Given the description of an element on the screen output the (x, y) to click on. 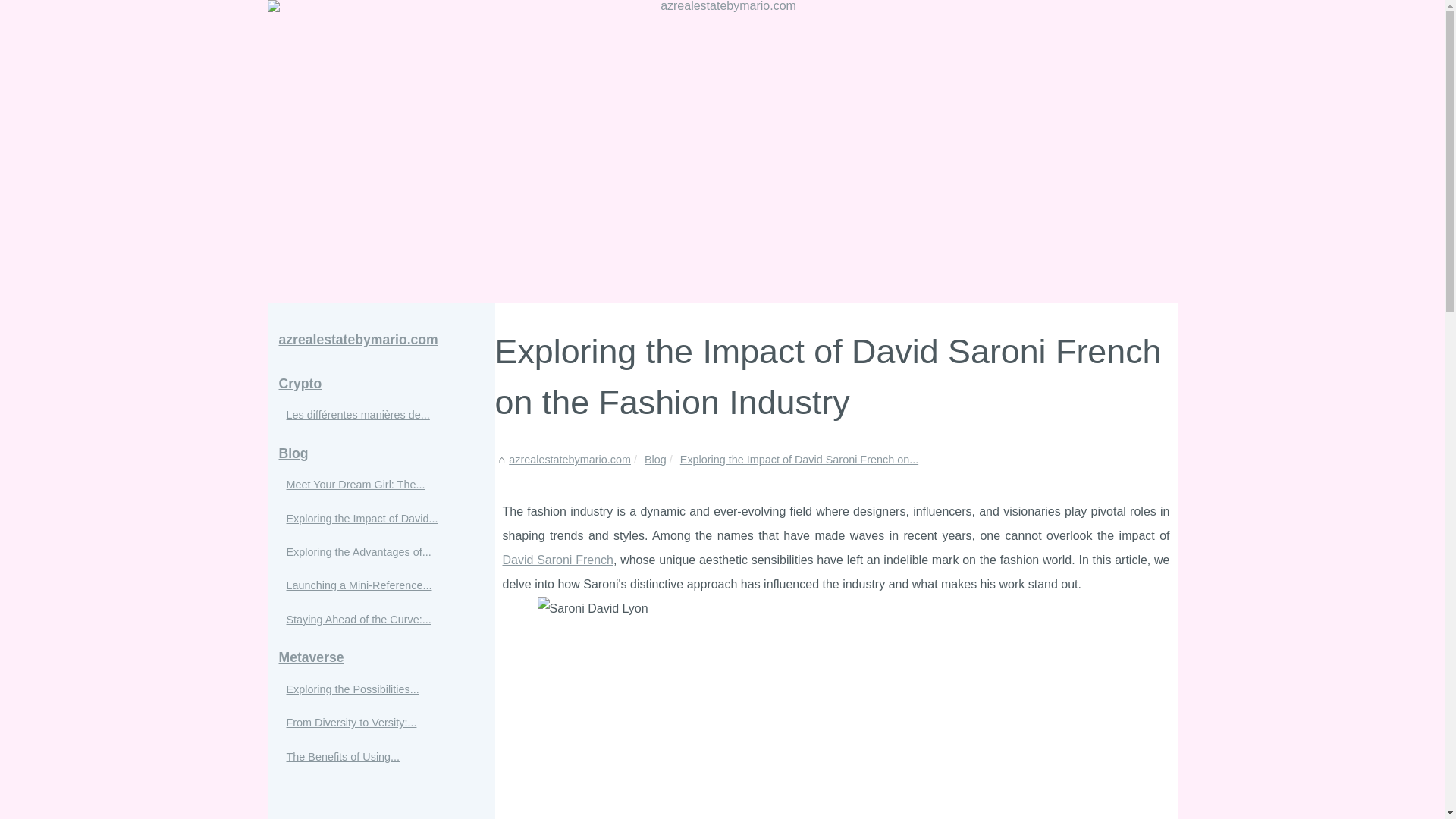
Exploring the Impact of David... (373, 518)
Meet Your Dream Girl: The Rise of AI Girlfriend Websites (373, 484)
Staying Ahead of the Curve:... (373, 619)
Crypto (380, 384)
Blog (655, 459)
azrealestatebymario.com (380, 339)
Exploring the Advantages of PHP for Website Development (373, 551)
Blog (655, 459)
